Given the description of an element on the screen output the (x, y) to click on. 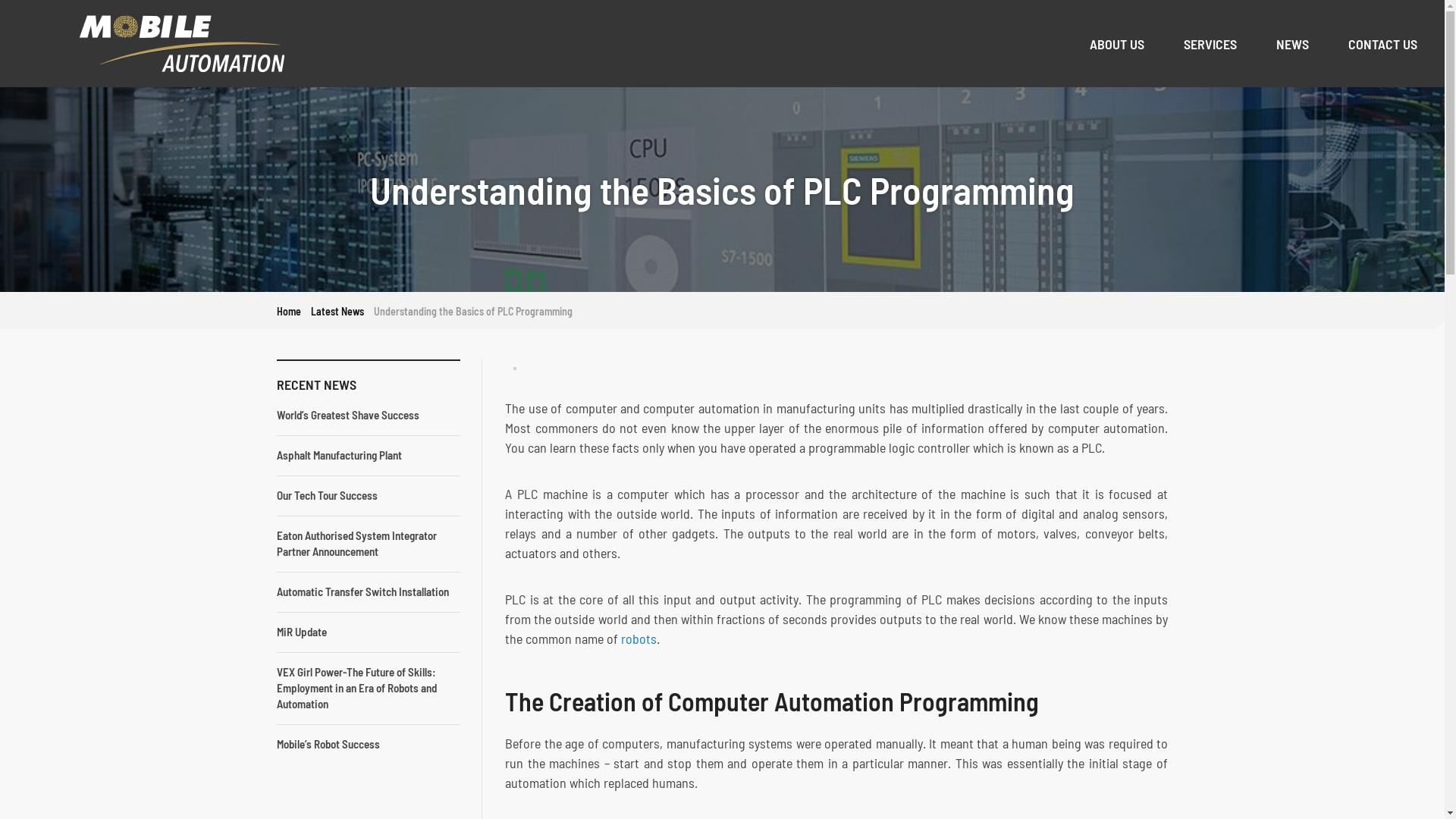
Our Tech Tour Success Element type: text (326, 495)
Home Element type: hover (181, 43)
Asphalt Manufacturing Plant Element type: text (338, 455)
NEWS Element type: text (1292, 43)
Latest News Element type: text (337, 310)
Eaton Authorised System Integrator Partner Announcement Element type: text (356, 543)
CONTACT US Element type: text (1382, 43)
Automatic Transfer Switch Installation Element type: text (362, 591)
MiR Update Element type: text (301, 631)
SERVICES Element type: text (1210, 43)
Home Element type: text (288, 310)
ABOUT US Element type: text (1117, 43)
robots Element type: text (638, 638)
